Given the description of an element on the screen output the (x, y) to click on. 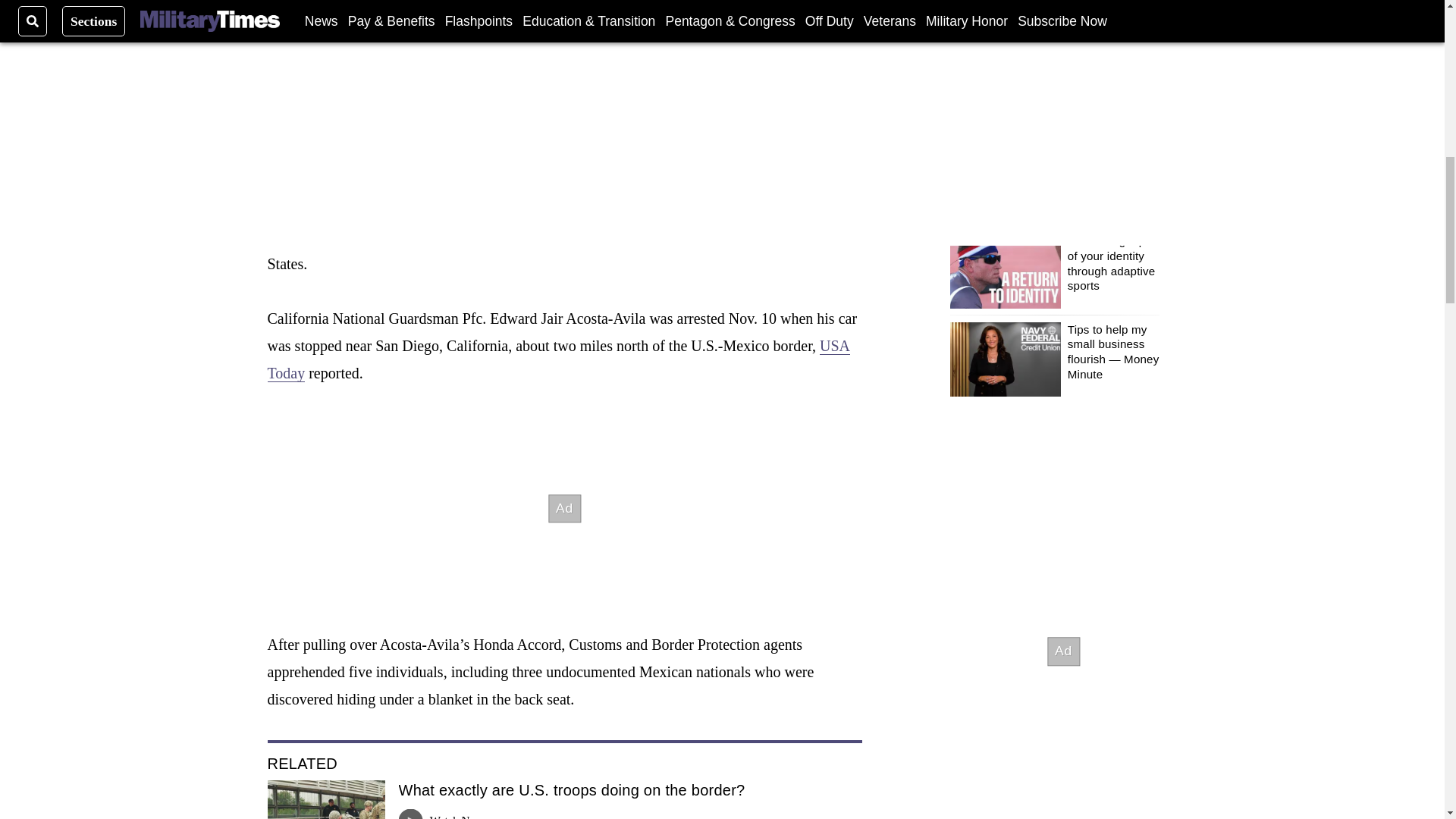
3rd party ad content (1062, 651)
3rd party ad content (563, 508)
